Given the description of an element on the screen output the (x, y) to click on. 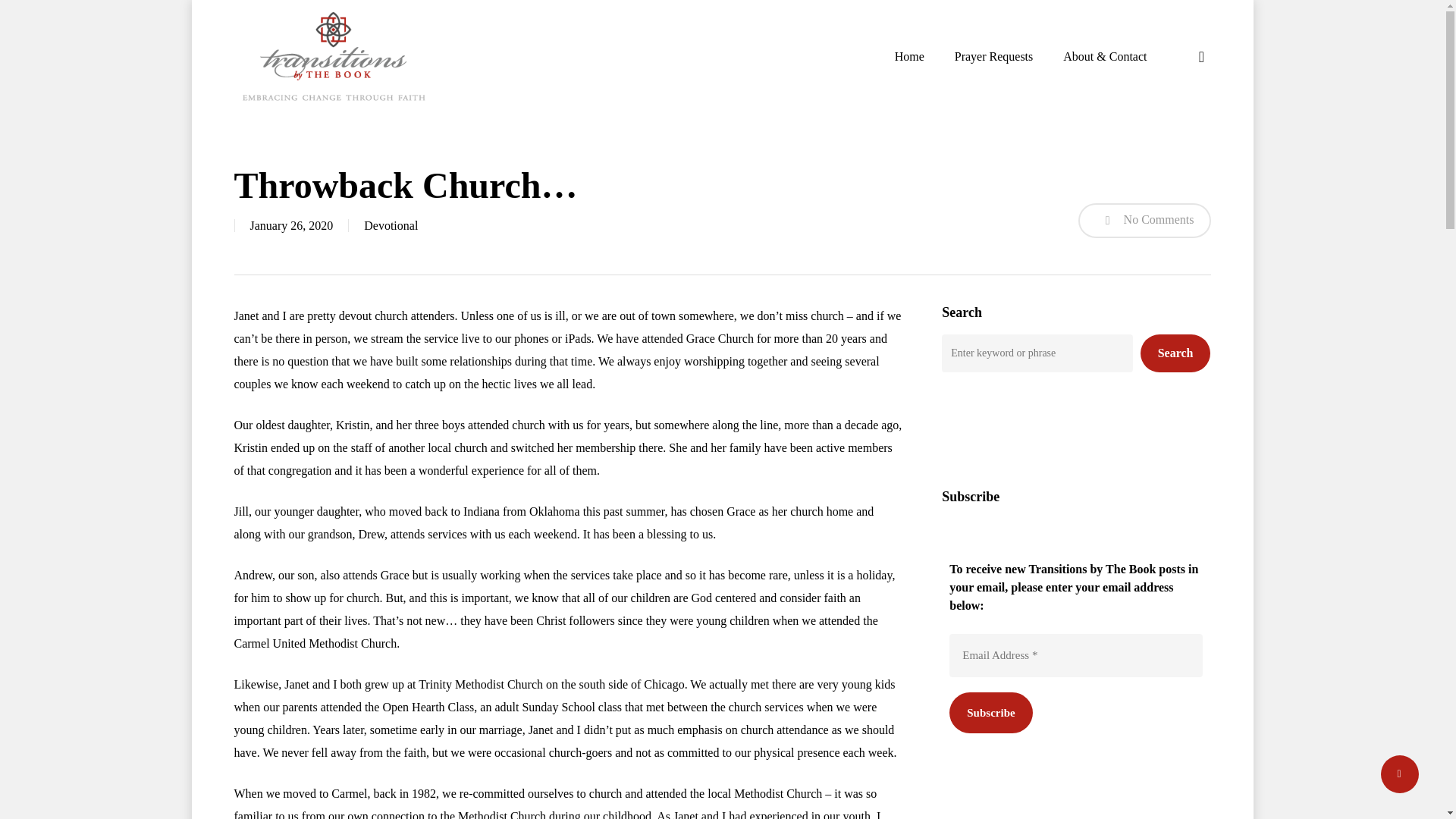
No Comments (1144, 220)
Subscribe (990, 712)
Home (909, 56)
search (1200, 56)
Subscribe (990, 712)
Prayer Requests (994, 56)
Devotional (390, 225)
Email Address (1075, 655)
Search (1175, 353)
